Given the description of an element on the screen output the (x, y) to click on. 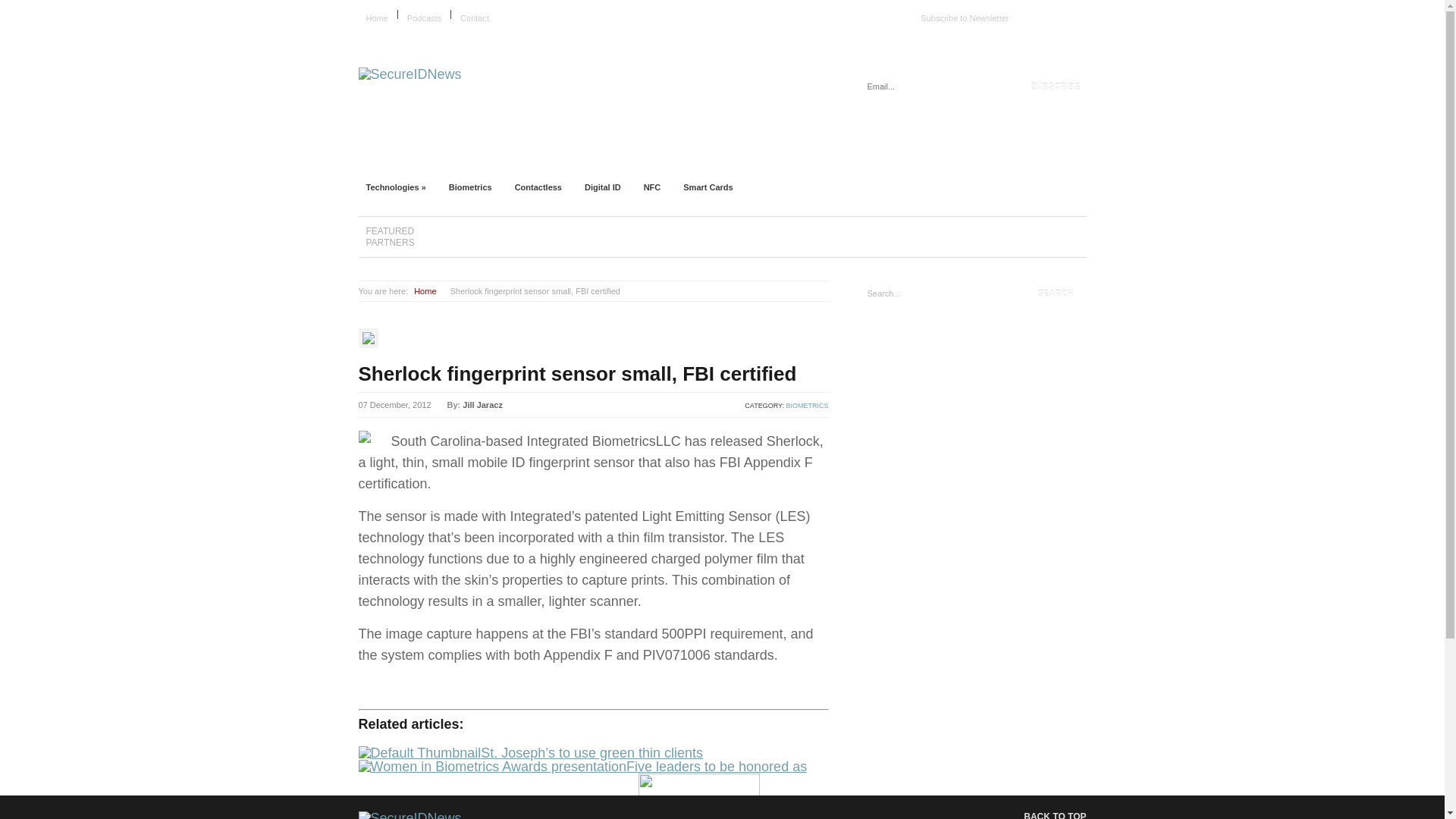
Digital ID (602, 187)
Subscribe (1055, 86)
TRANSIT (964, 156)
Biometrics (470, 187)
BACK TO TOP (1043, 813)
Twitter (1062, 13)
HEALTH (887, 156)
Search (1055, 293)
Podcasts (424, 17)
RSS (1080, 13)
Sherlock fingerprint sensor small, FBI certified (577, 373)
Smart Cards (707, 187)
EDUCATION (605, 156)
CORPORATE (509, 156)
